Given the description of an element on the screen output the (x, y) to click on. 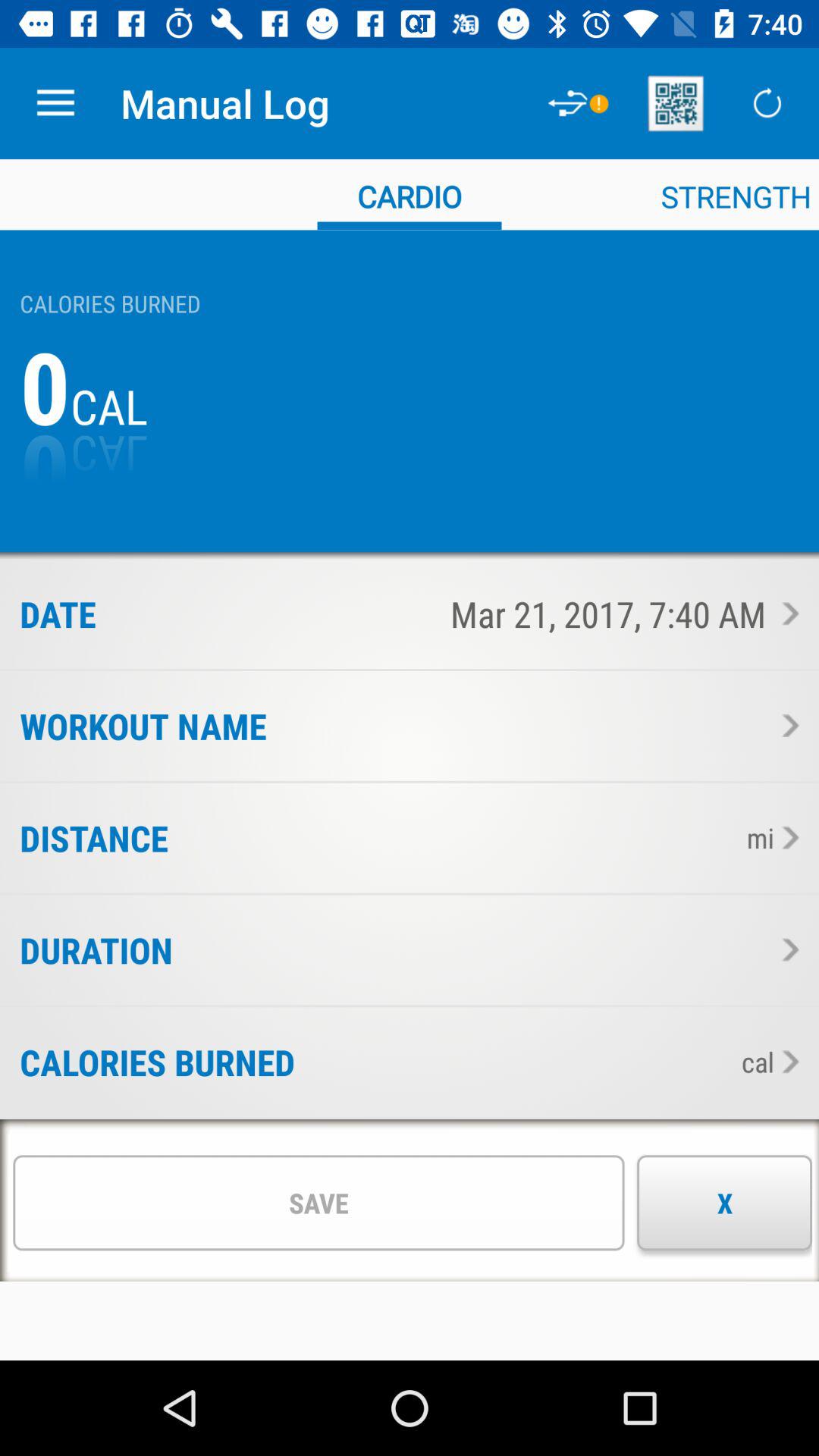
choose icon to the right of distance (452, 837)
